Given the description of an element on the screen output the (x, y) to click on. 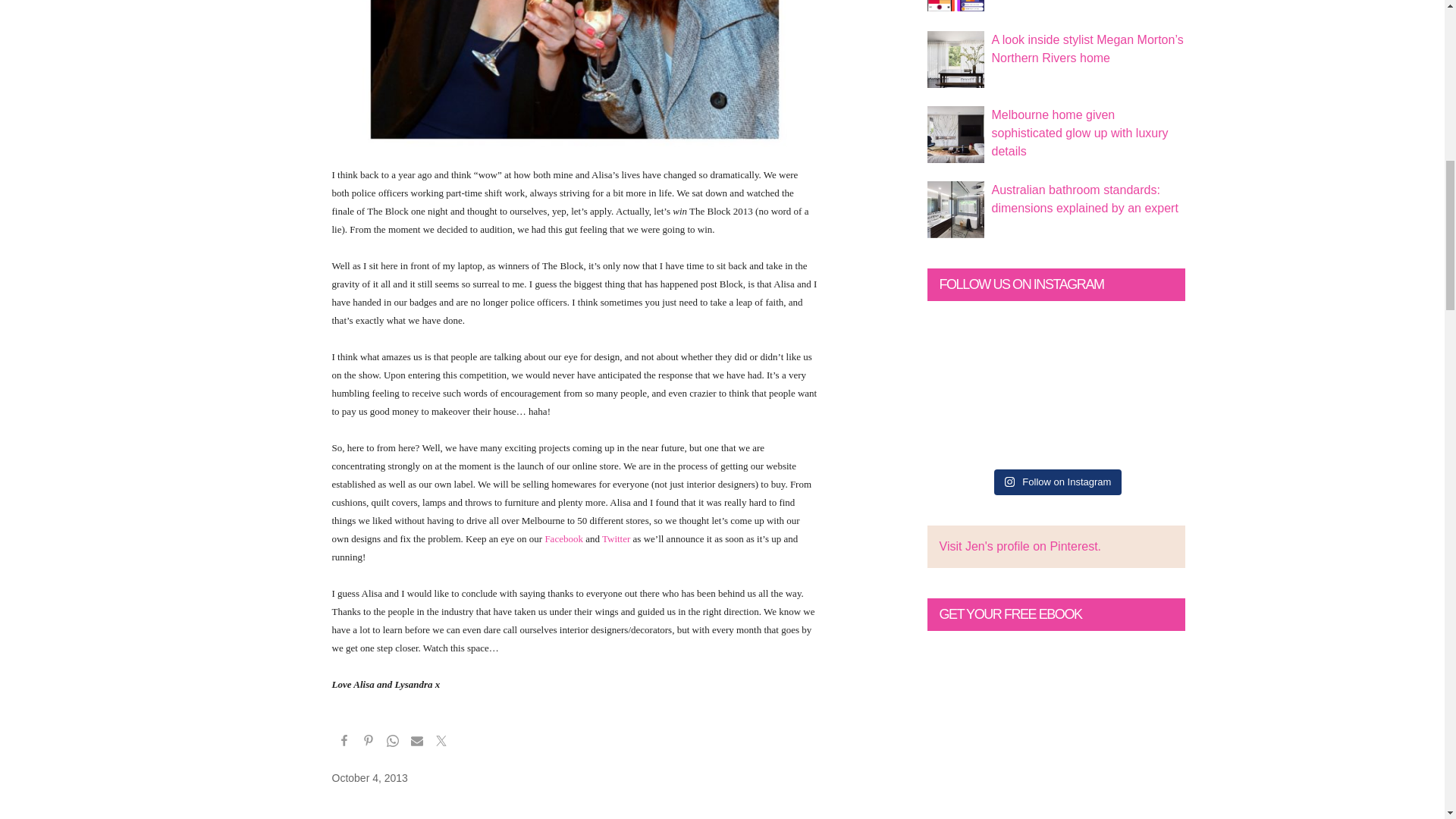
Share on Pinterest (368, 743)
Share via Email (416, 743)
Share on Facebook (343, 743)
Share on Twitter (440, 743)
